Given the description of an element on the screen output the (x, y) to click on. 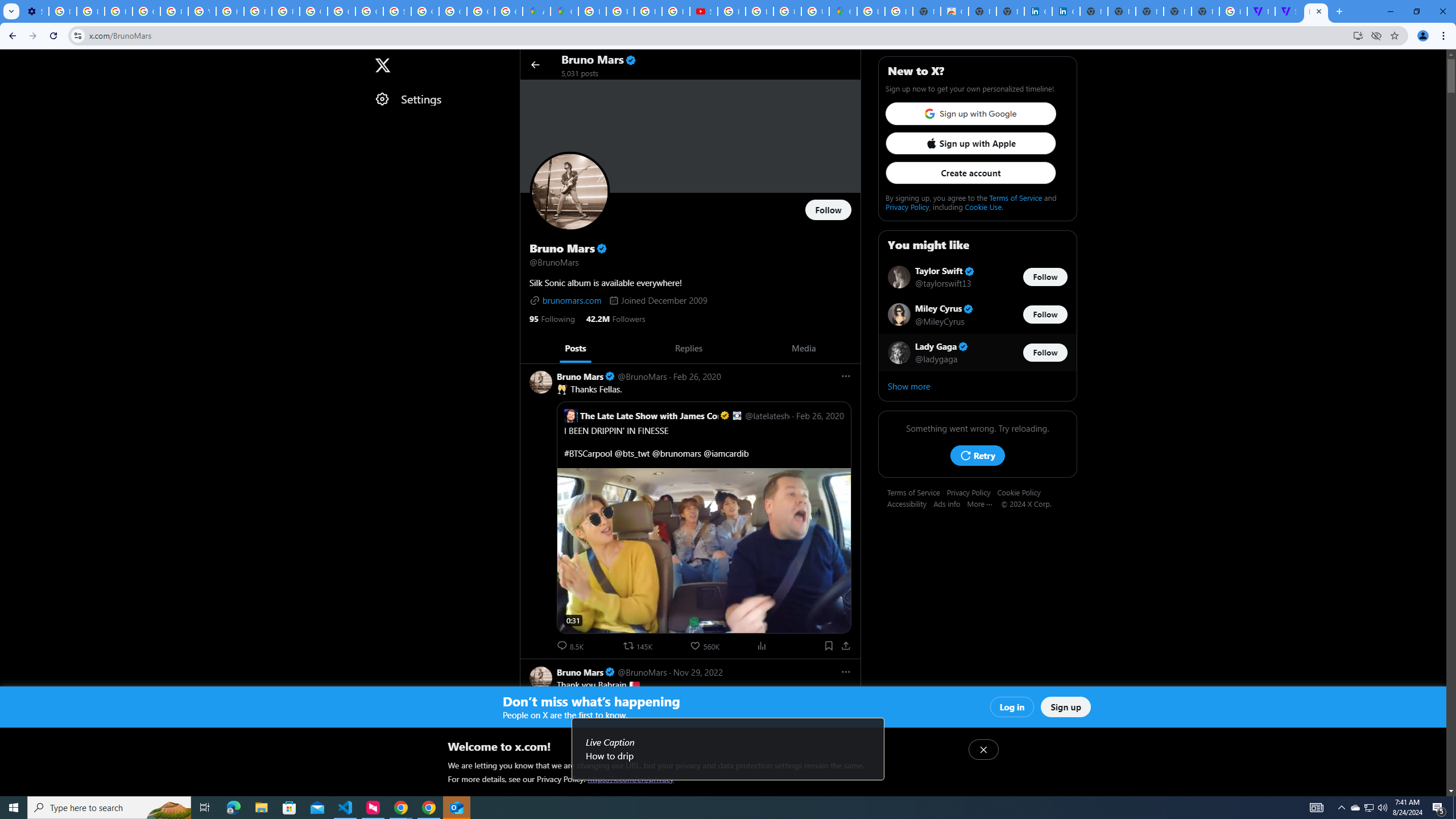
Ads info (949, 503)
